Given the description of an element on the screen output the (x, y) to click on. 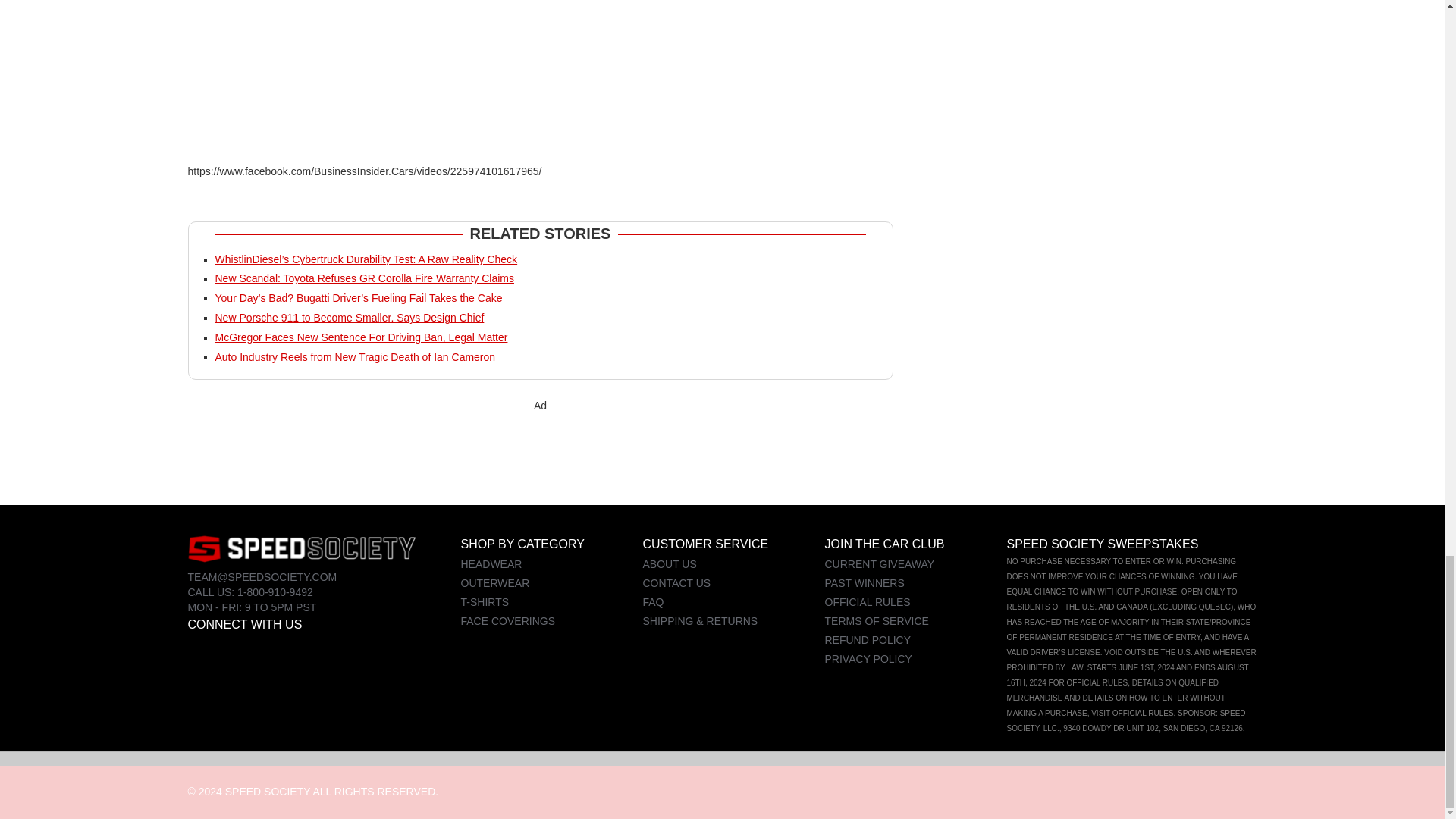
footer logo (300, 548)
New Scandal: Toyota Refuses GR Corolla Fire Warranty Claims (364, 277)
